Given the description of an element on the screen output the (x, y) to click on. 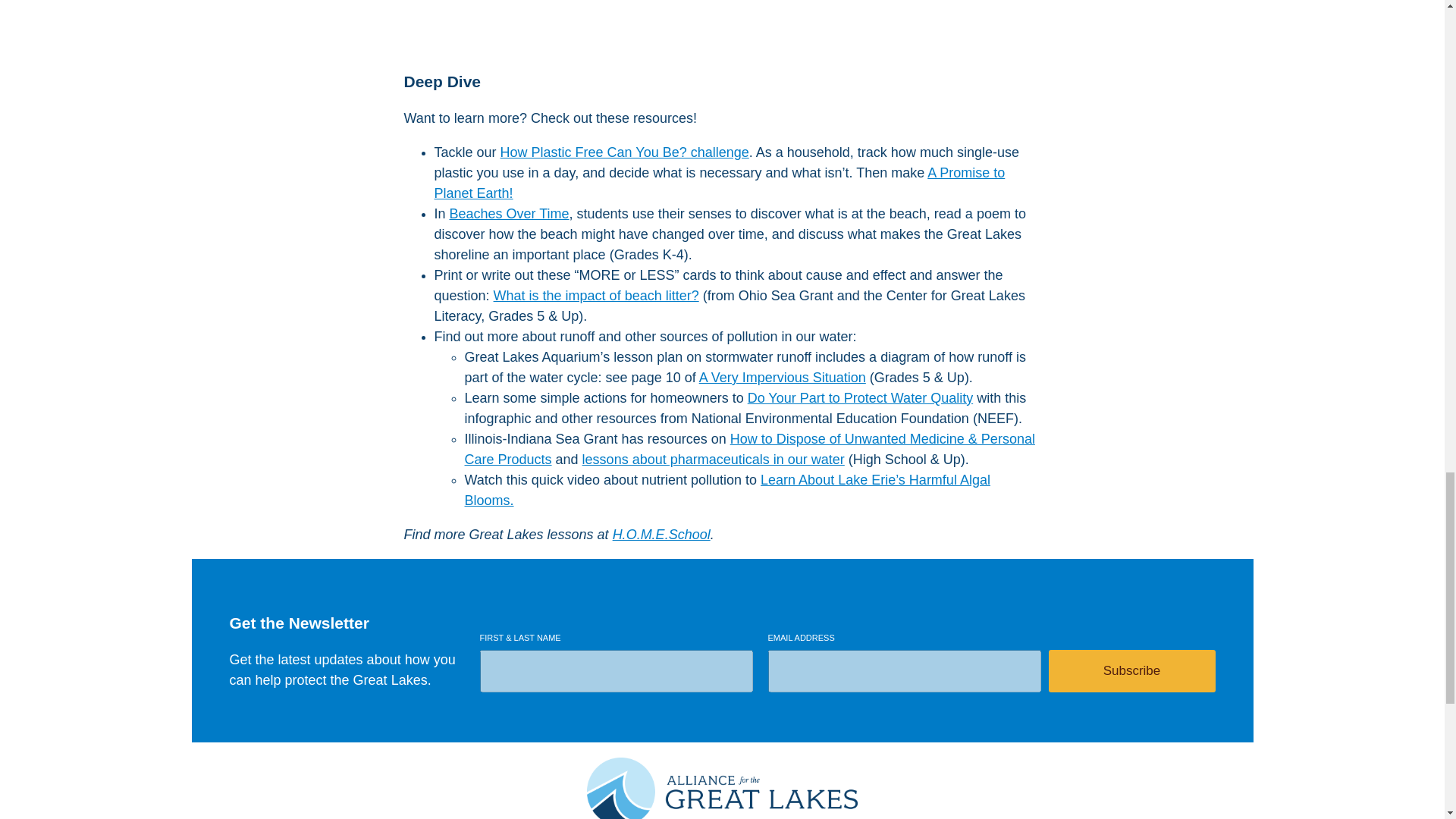
Do Your Part to Protect Water Quality (860, 397)
Alliance for the Great Lakes (721, 788)
A Very Impervious Situation (782, 377)
Art from Trash: Making a Great Blue Heron (722, 27)
Beaches Over Time (509, 213)
H.O.M.E.School (661, 534)
What is the impact of beach litter? (595, 295)
Subscribe (1131, 671)
A Promise to Planet Earth! (718, 182)
How Plastic Free Can You Be? challenge (624, 151)
